Given the description of an element on the screen output the (x, y) to click on. 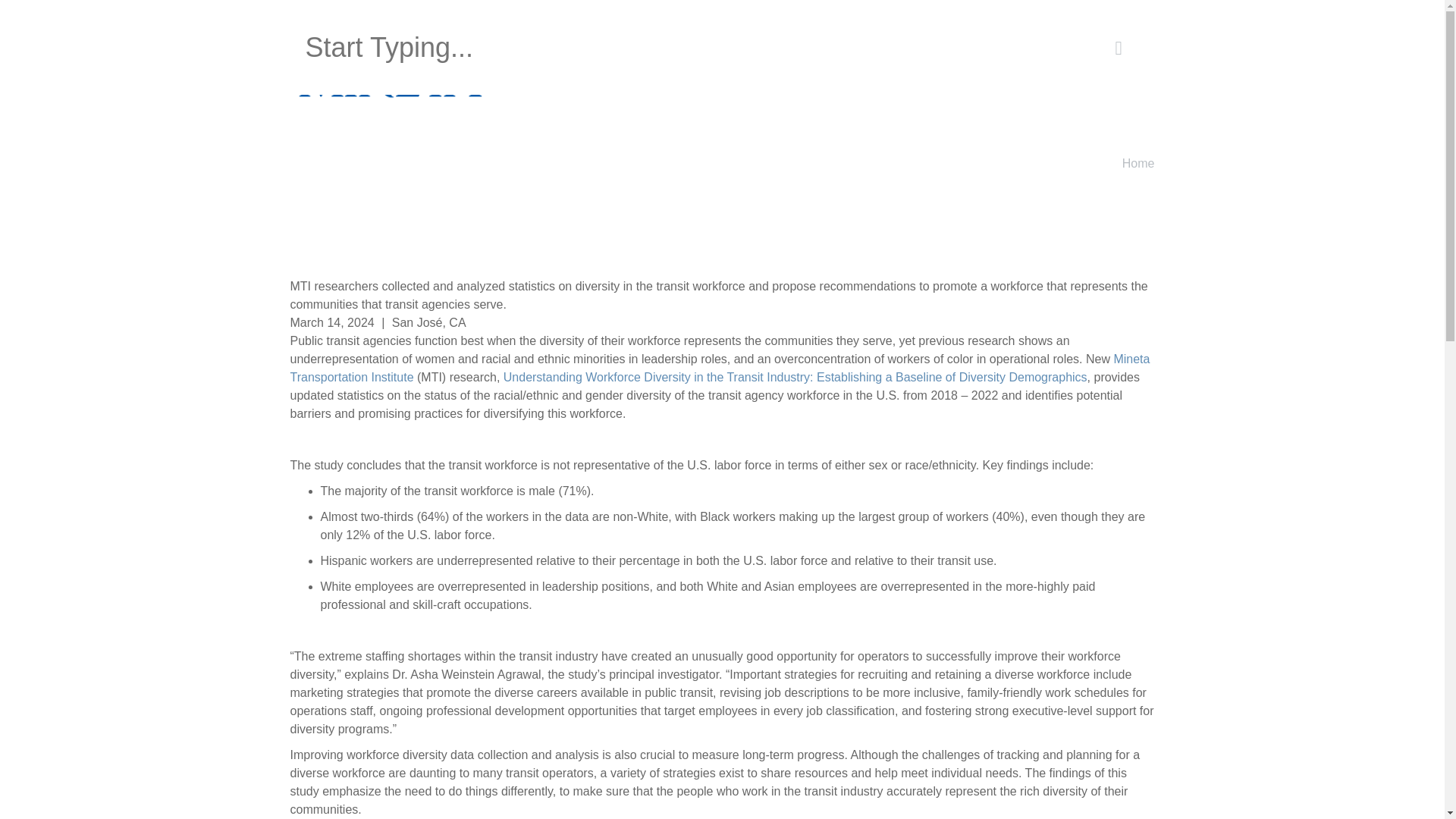
Enter the terms you wish to search for. (685, 47)
WORKFORCE DEVELOPMENT (917, 77)
EDUCATION (687, 77)
RESEARCH (779, 77)
Donate (532, 14)
Search (330, 37)
Search (330, 37)
